Given the description of an element on the screen output the (x, y) to click on. 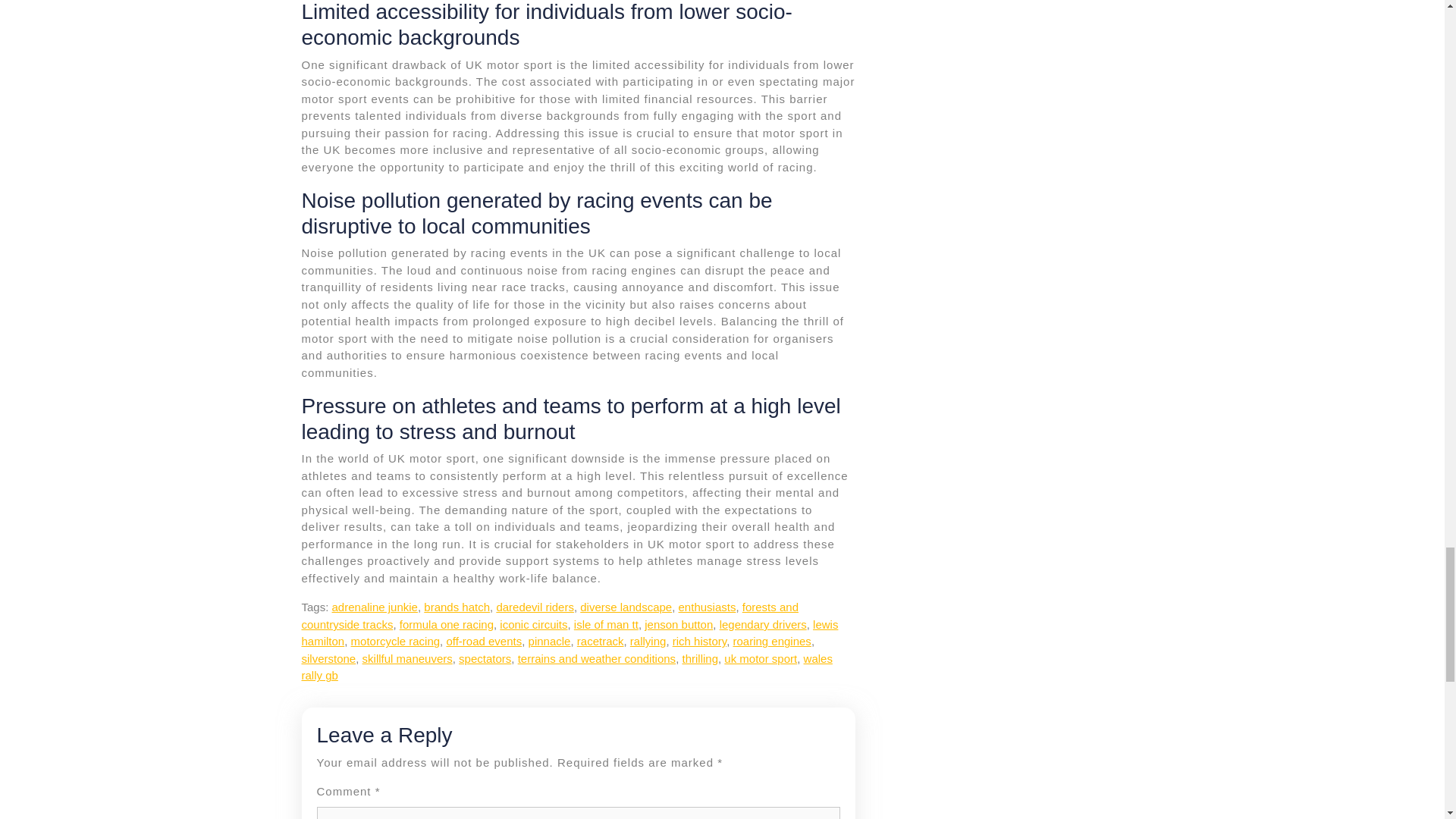
diverse landscape (625, 606)
forests and countryside tracks (549, 615)
enthusiasts (707, 606)
rallying (648, 640)
roaring engines (771, 640)
formula one racing (445, 624)
brands hatch (456, 606)
adrenaline junkie (374, 606)
lewis hamilton (569, 633)
rich history (699, 640)
